Given the description of an element on the screen output the (x, y) to click on. 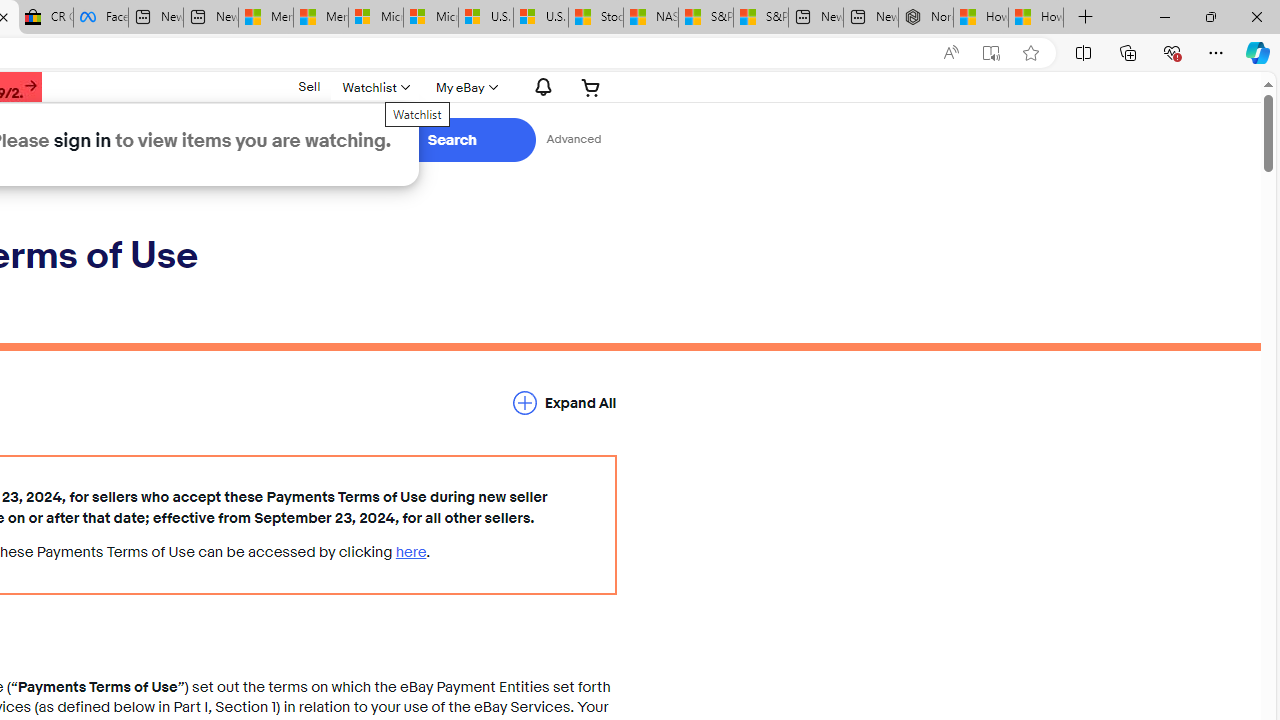
My eBayExpand My eBay (464, 87)
Expand Cart (591, 87)
sign in (82, 139)
Sell (309, 87)
here (411, 552)
Enter Immersive Reader (F9) (991, 53)
